Given the description of an element on the screen output the (x, y) to click on. 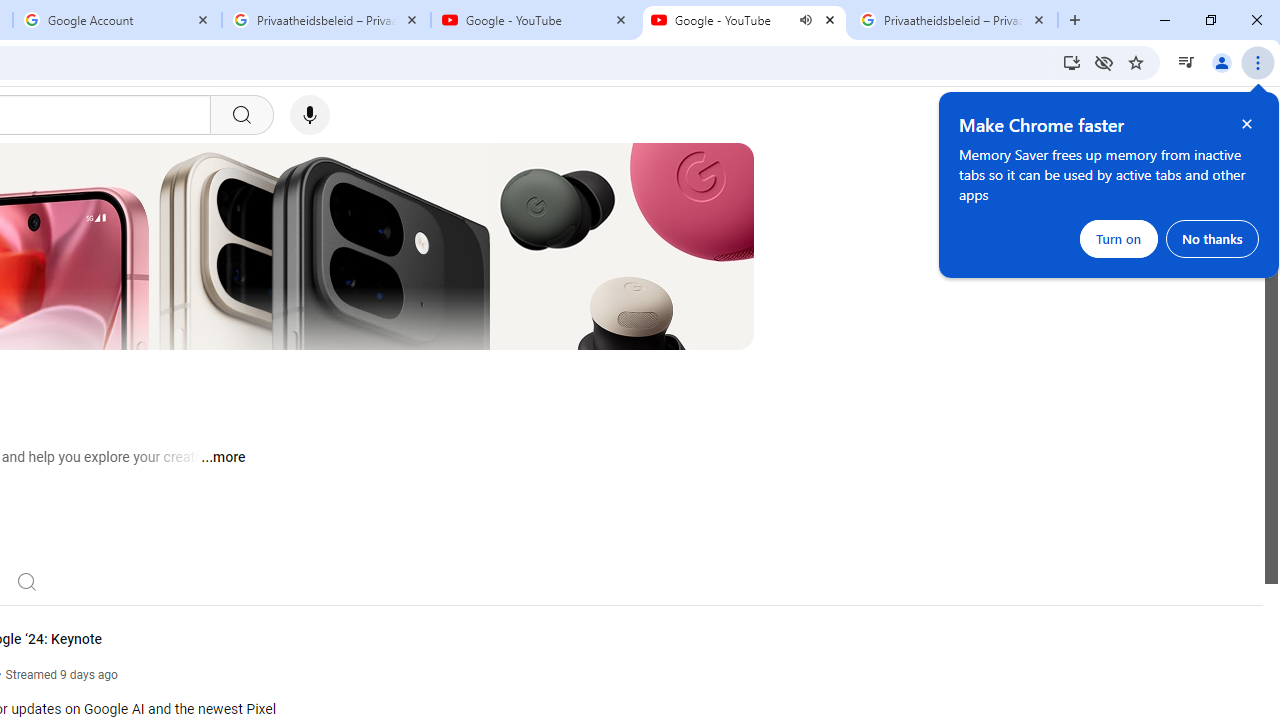
Turn on (1119, 238)
Search with your voice (309, 115)
